Given the description of an element on the screen output the (x, y) to click on. 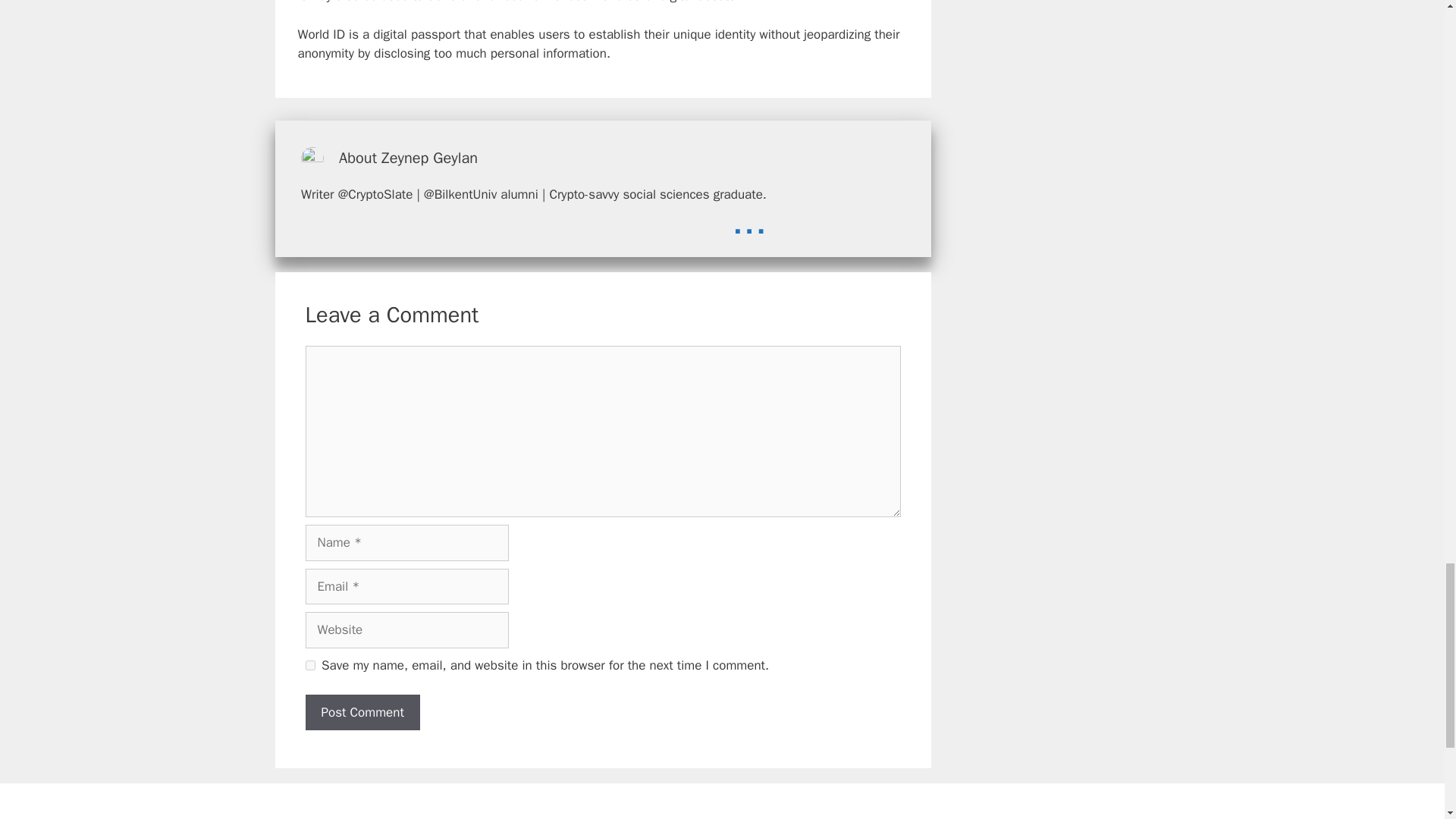
Read more (749, 220)
Post Comment (361, 712)
Post Comment (361, 712)
yes (309, 665)
... (749, 220)
